Given the description of an element on the screen output the (x, y) to click on. 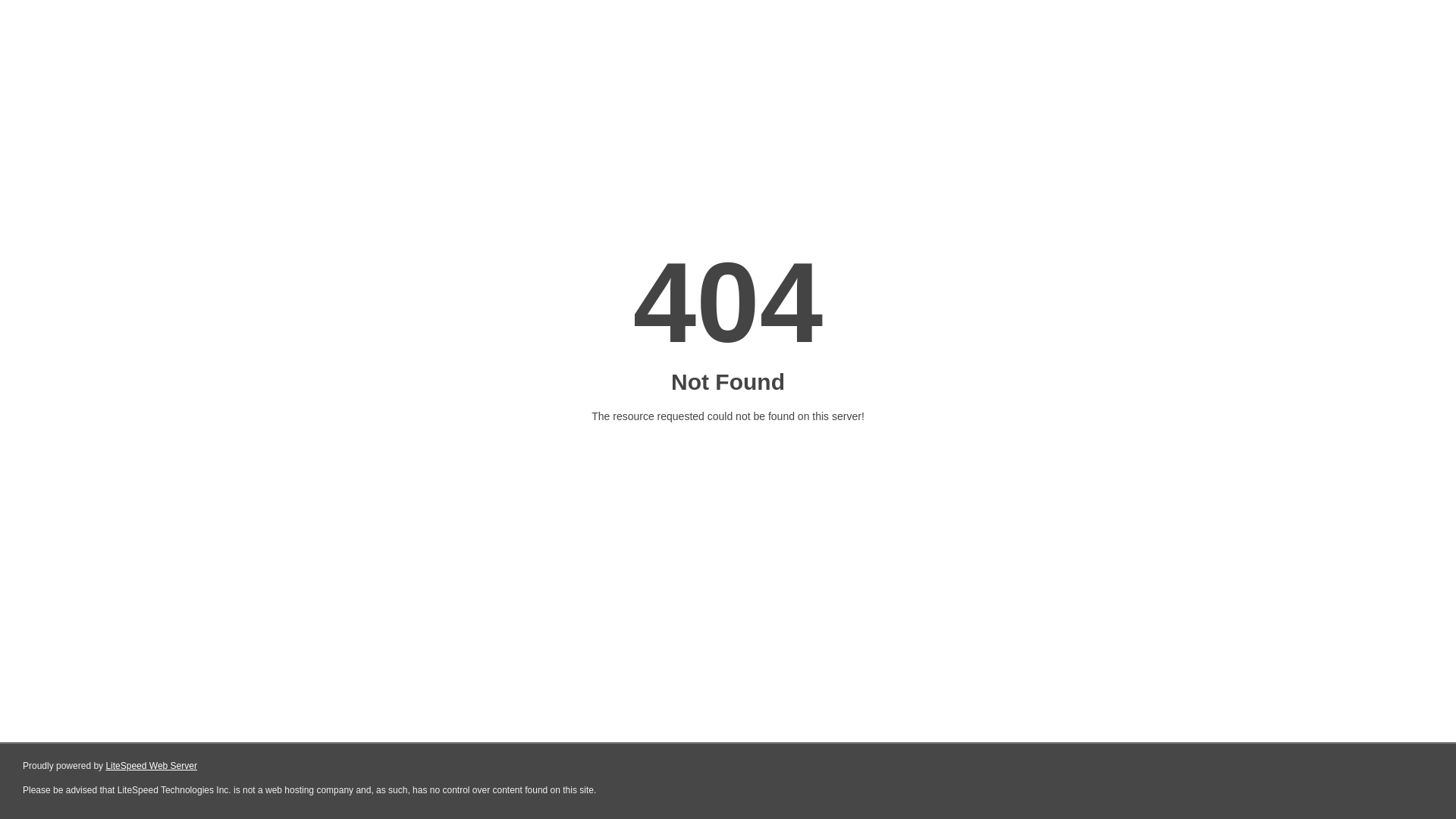
LiteSpeed Web Server Element type: text (151, 765)
